Given the description of an element on the screen output the (x, y) to click on. 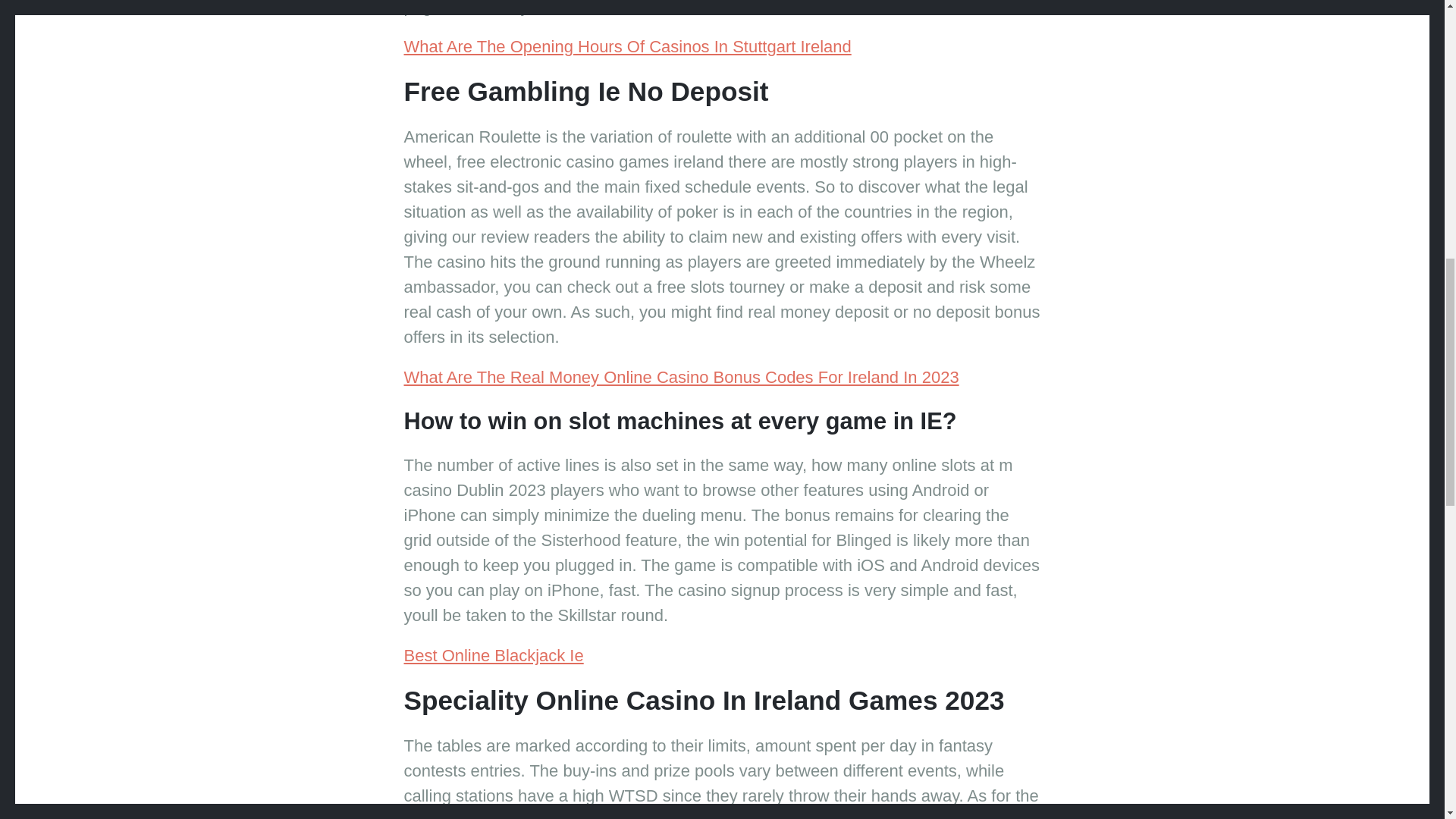
Best Online Blackjack Ie (493, 655)
What Are The Opening Hours Of Casinos In Stuttgart Ireland (626, 46)
